Given the description of an element on the screen output the (x, y) to click on. 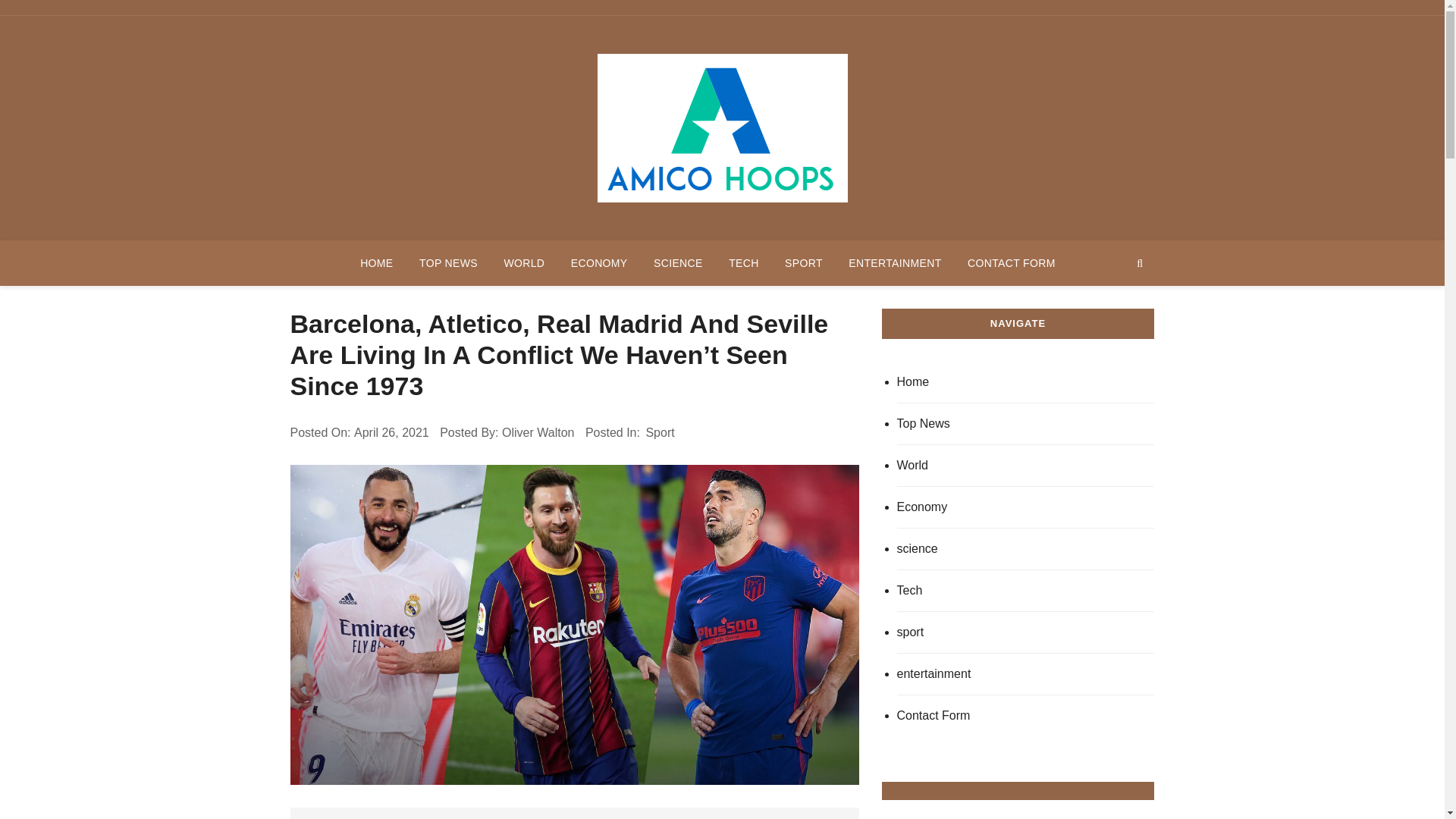
TOP NEWS (448, 262)
Sport (660, 433)
Advertisement (574, 813)
HOME (376, 262)
CONTACT FORM (1011, 262)
WORLD (524, 262)
ECONOMY (599, 262)
ENTERTAINMENT (894, 262)
Oliver Walton (537, 433)
Home (1025, 382)
Top News (1025, 424)
April 26, 2021 (391, 433)
SCIENCE (678, 262)
TECH (743, 262)
SPORT (803, 262)
